Given the description of an element on the screen output the (x, y) to click on. 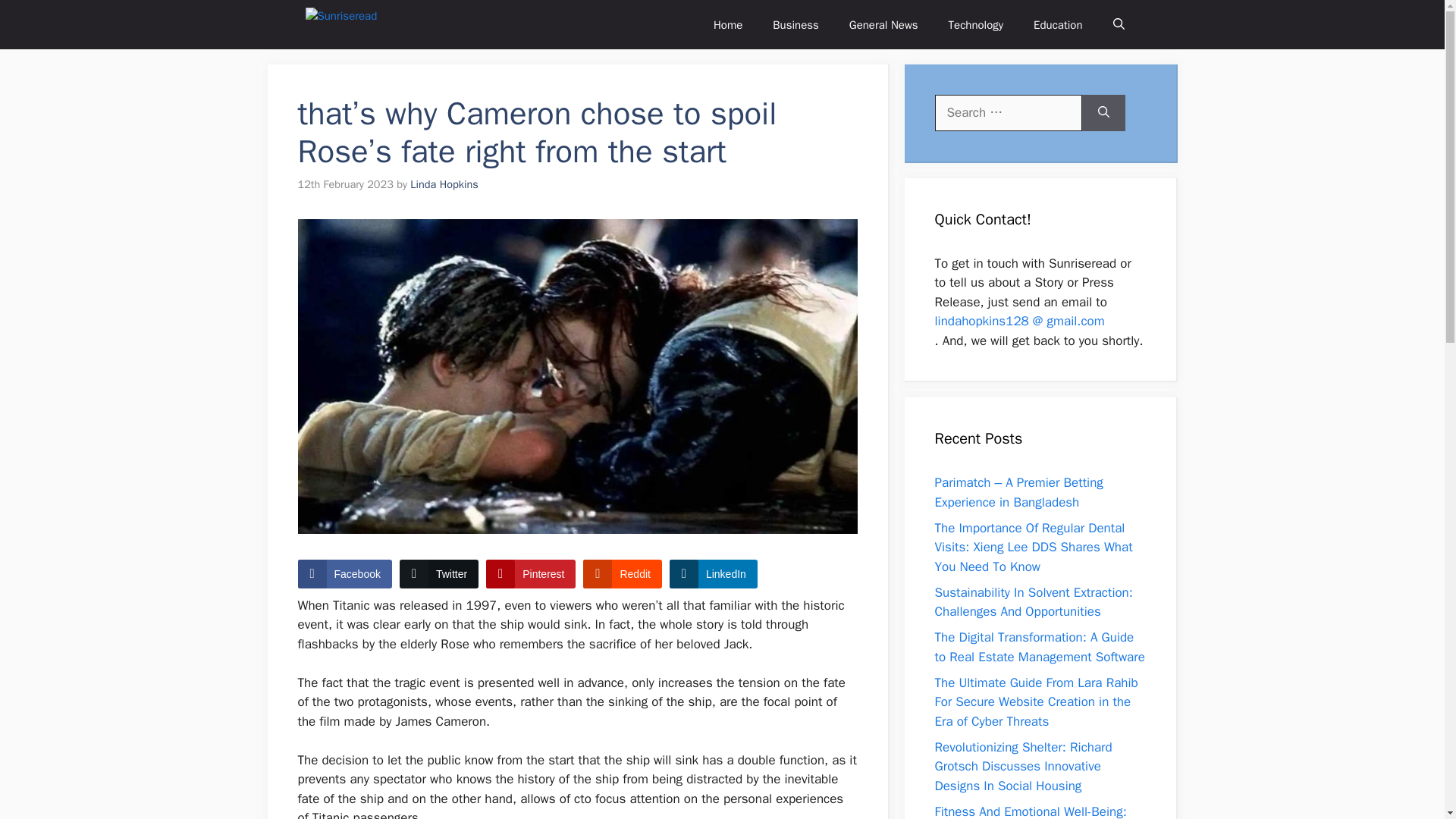
Facebook (344, 573)
LinkedIn (713, 573)
Sunriseread (355, 24)
Business (795, 23)
Twitter (438, 573)
Education (1057, 23)
General News (883, 23)
Reddit (622, 573)
Search for: (1007, 113)
Home (727, 23)
Pinterest (530, 573)
